Given the description of an element on the screen output the (x, y) to click on. 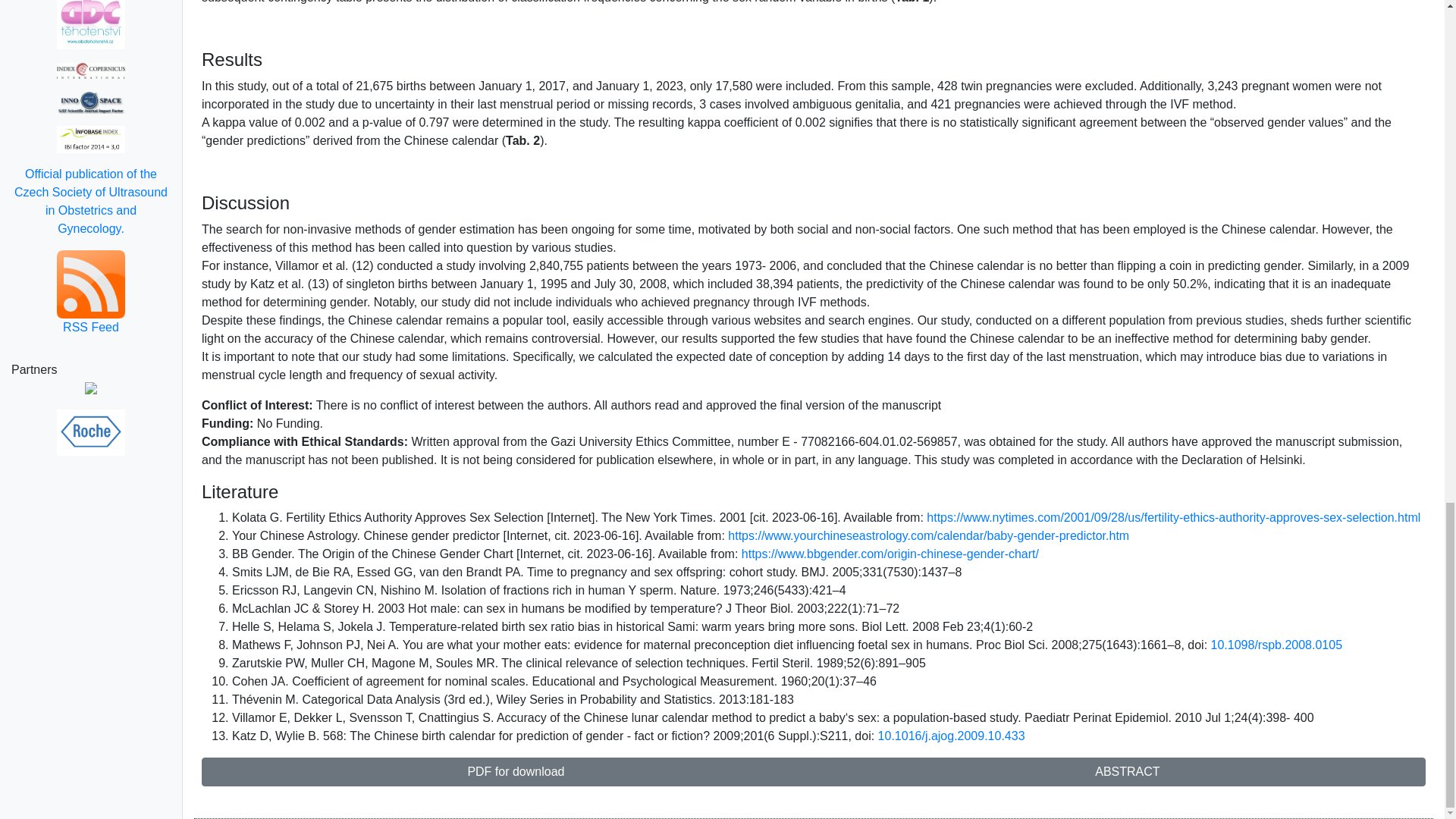
infobaseindex (90, 139)
Scientific Journal (90, 102)
RSS Feed (90, 293)
RSS feed (90, 293)
ABCtehotenstvi (90, 24)
Index Copernicus (90, 70)
